Given the description of an element on the screen output the (x, y) to click on. 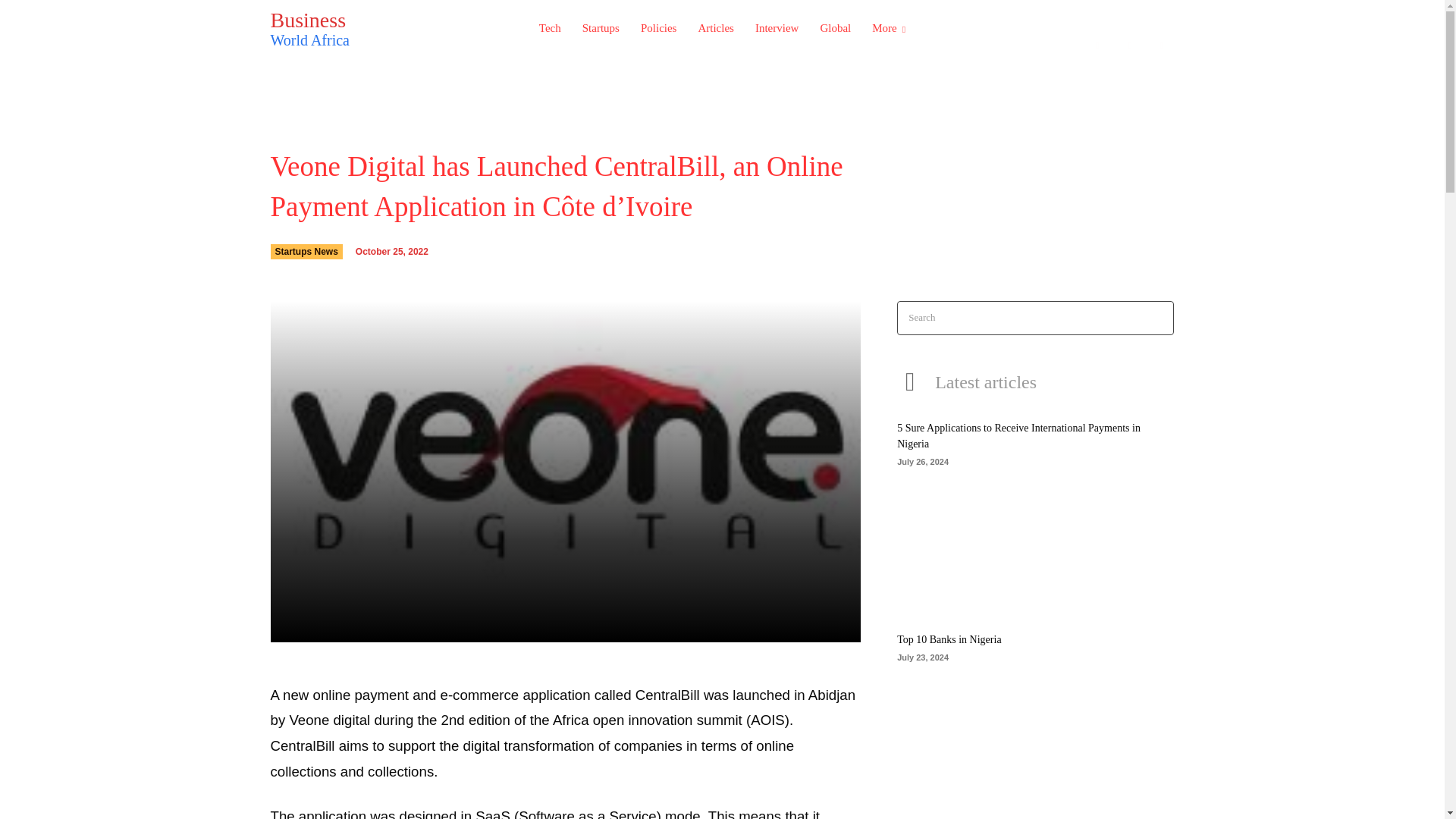
Top 10 Banks in Nigeria (948, 639)
Twitter (345, 28)
Facebook (1162, 46)
Startups News (1096, 46)
Instagram (305, 251)
Top 10 Banks in Nigeria (1130, 46)
